Given the description of an element on the screen output the (x, y) to click on. 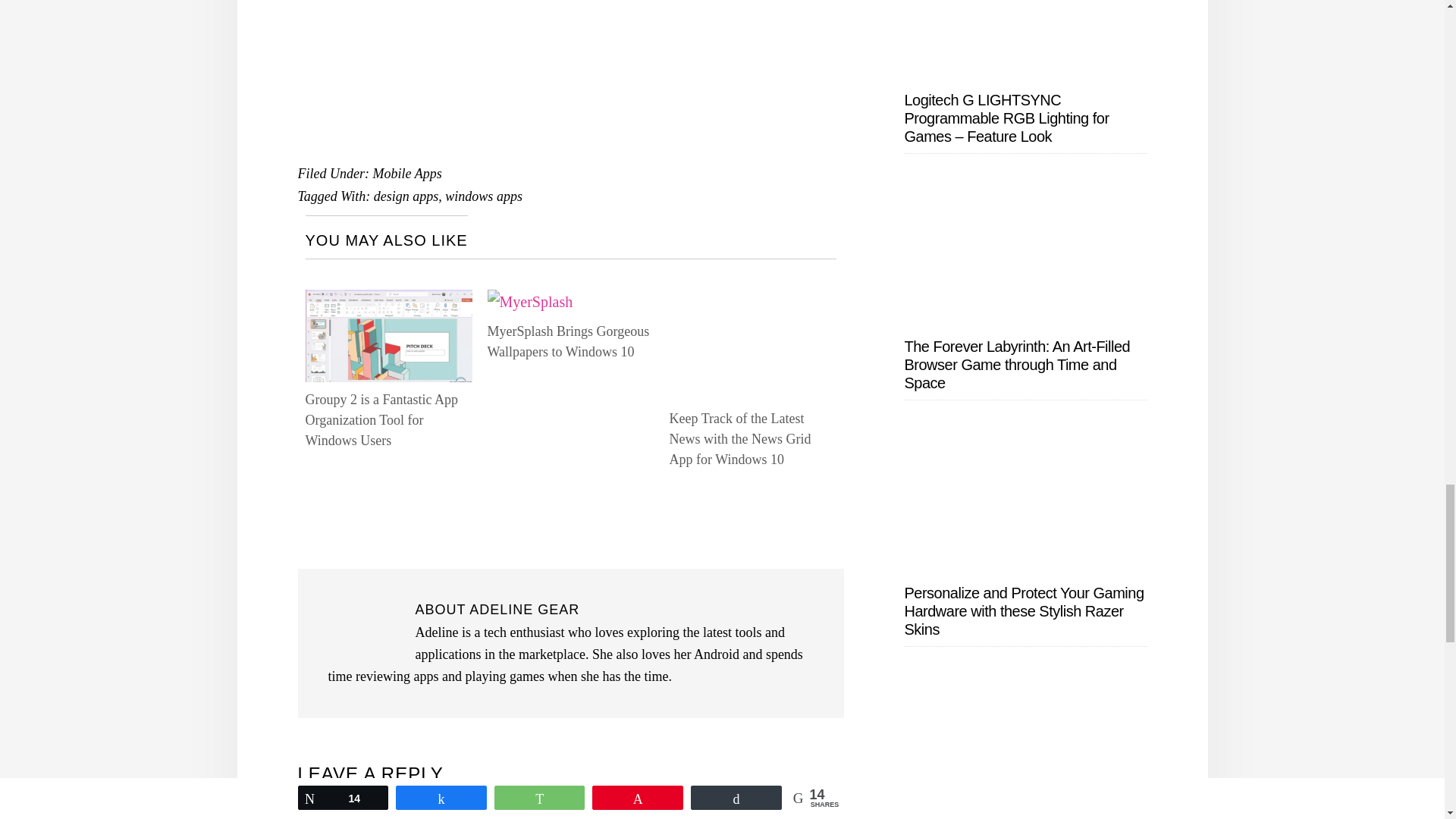
Mobile Apps (406, 173)
MyerSplash Brings Gorgeous Wallpapers to Windows 10 (567, 341)
design apps (406, 196)
windows apps (483, 196)
